Given the description of an element on the screen output the (x, y) to click on. 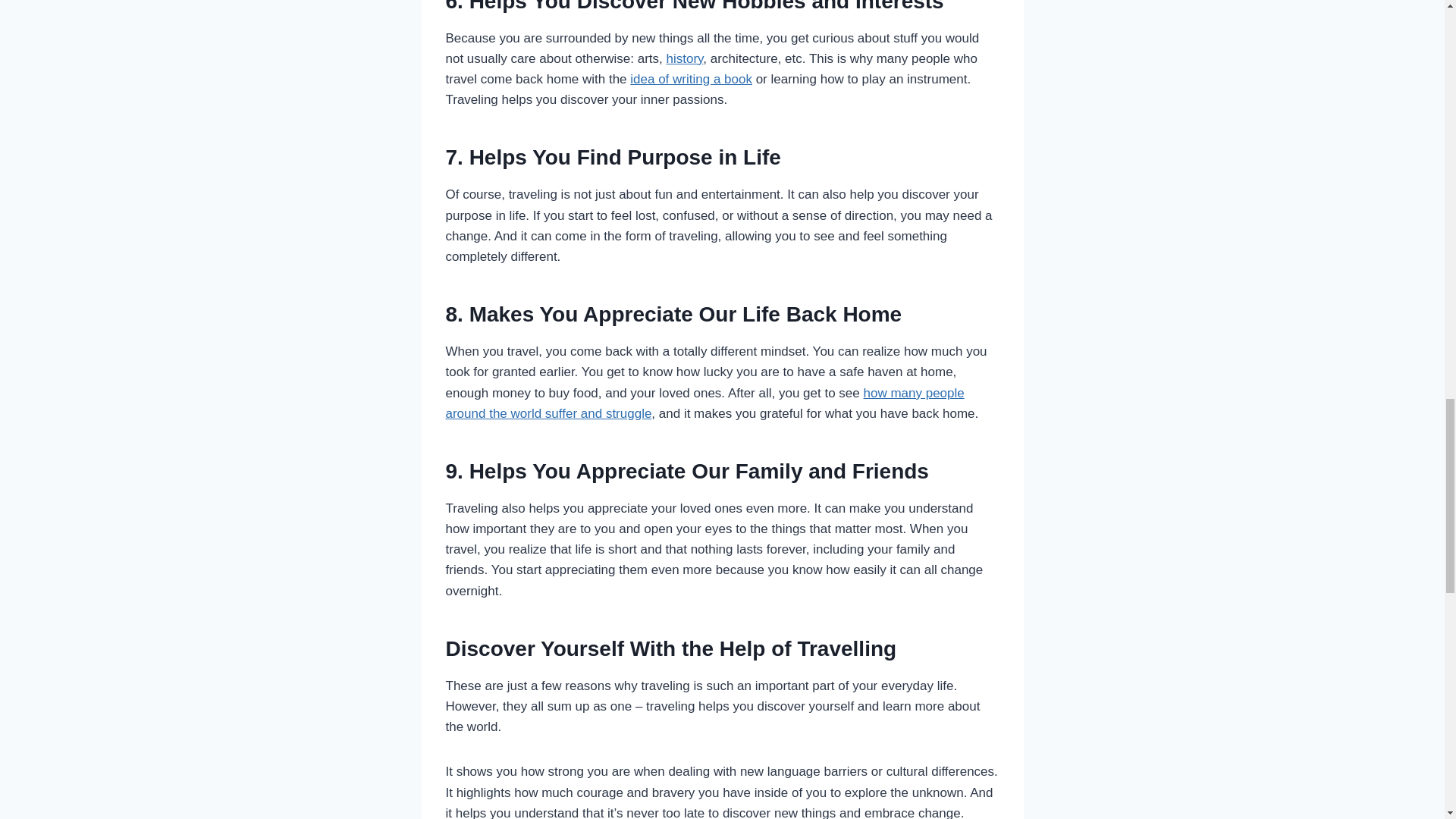
how many people around the world suffer and struggle (704, 402)
history (684, 58)
idea of writing a book (691, 79)
idea of writing a book (691, 79)
history (684, 58)
how many people around the world suffer and struggle (704, 402)
